Given the description of an element on the screen output the (x, y) to click on. 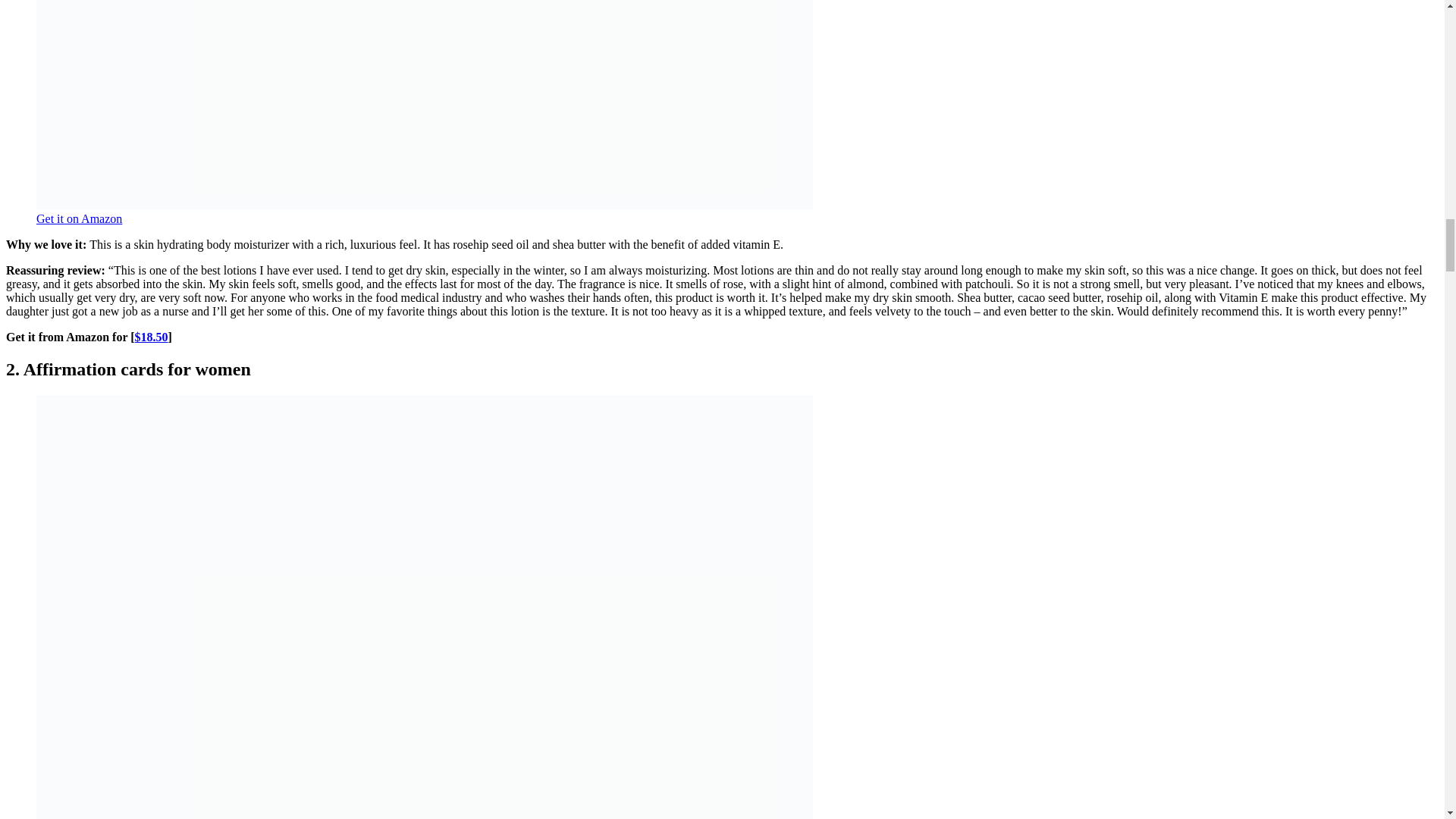
Get it on Amazon (79, 218)
